Given the description of an element on the screen output the (x, y) to click on. 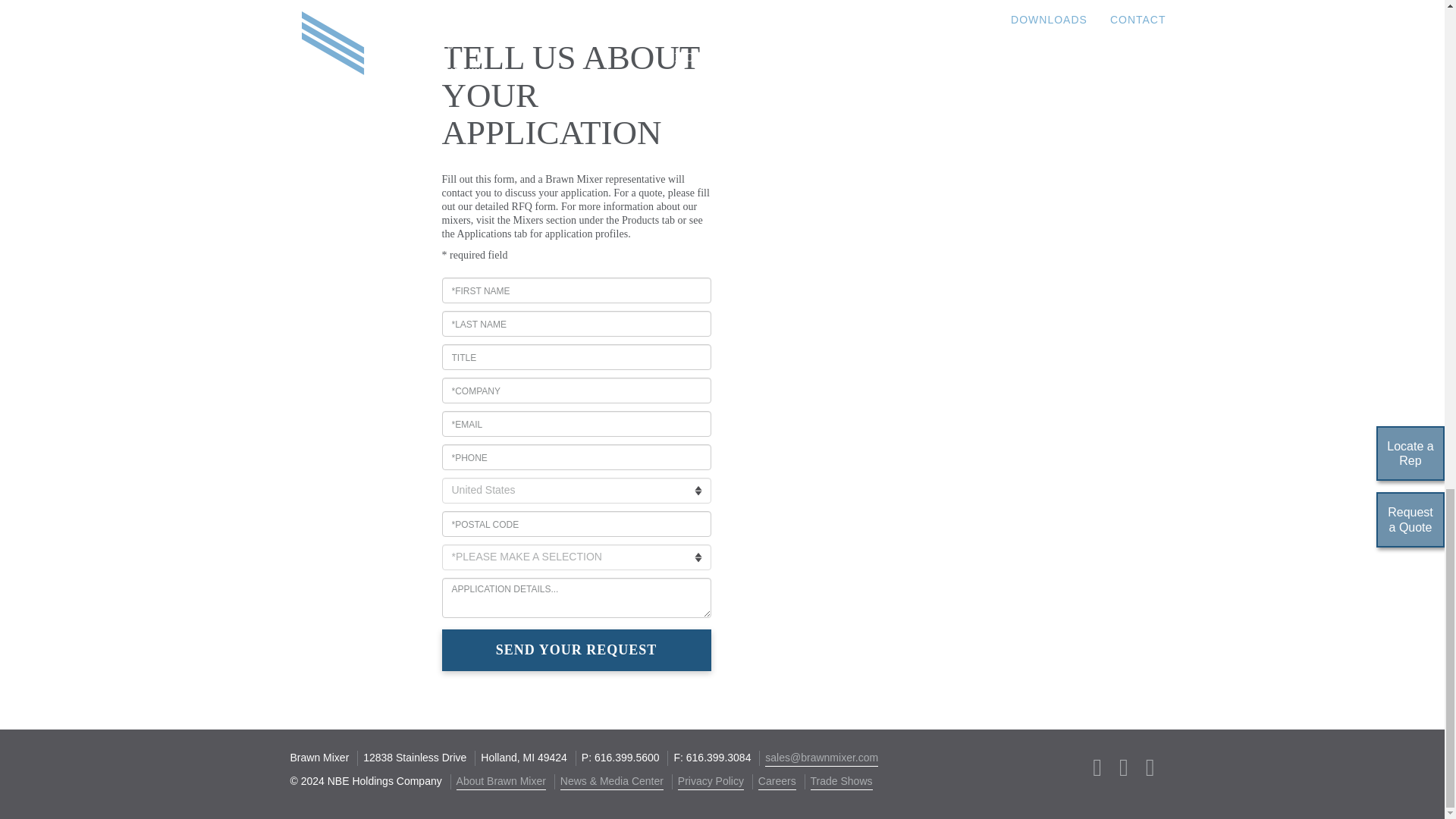
Send your request (575, 649)
Send your request (575, 649)
